Given the description of an element on the screen output the (x, y) to click on. 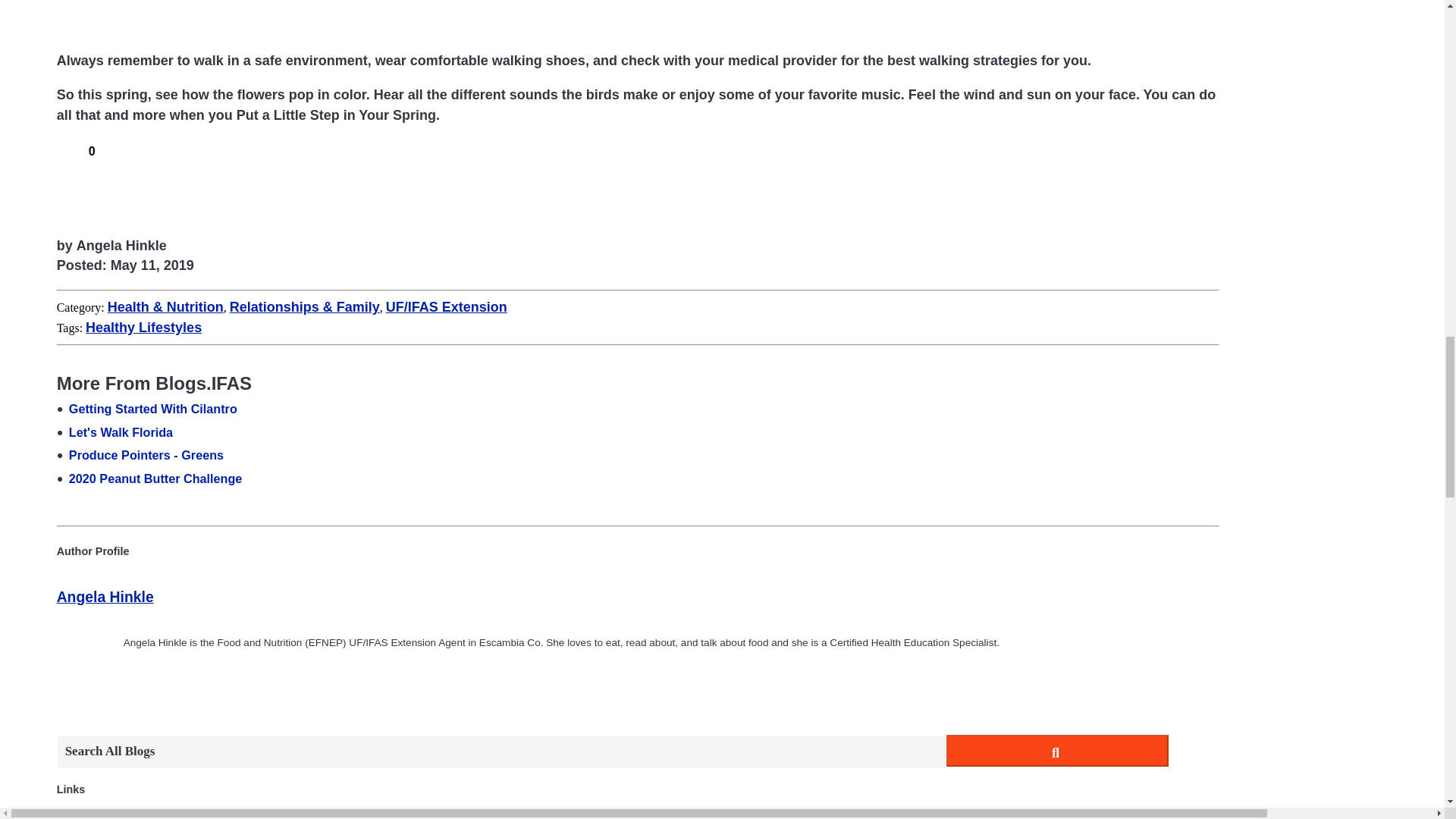
I found this post helpful (65, 148)
Search All Blogs (501, 751)
